Given the description of an element on the screen output the (x, y) to click on. 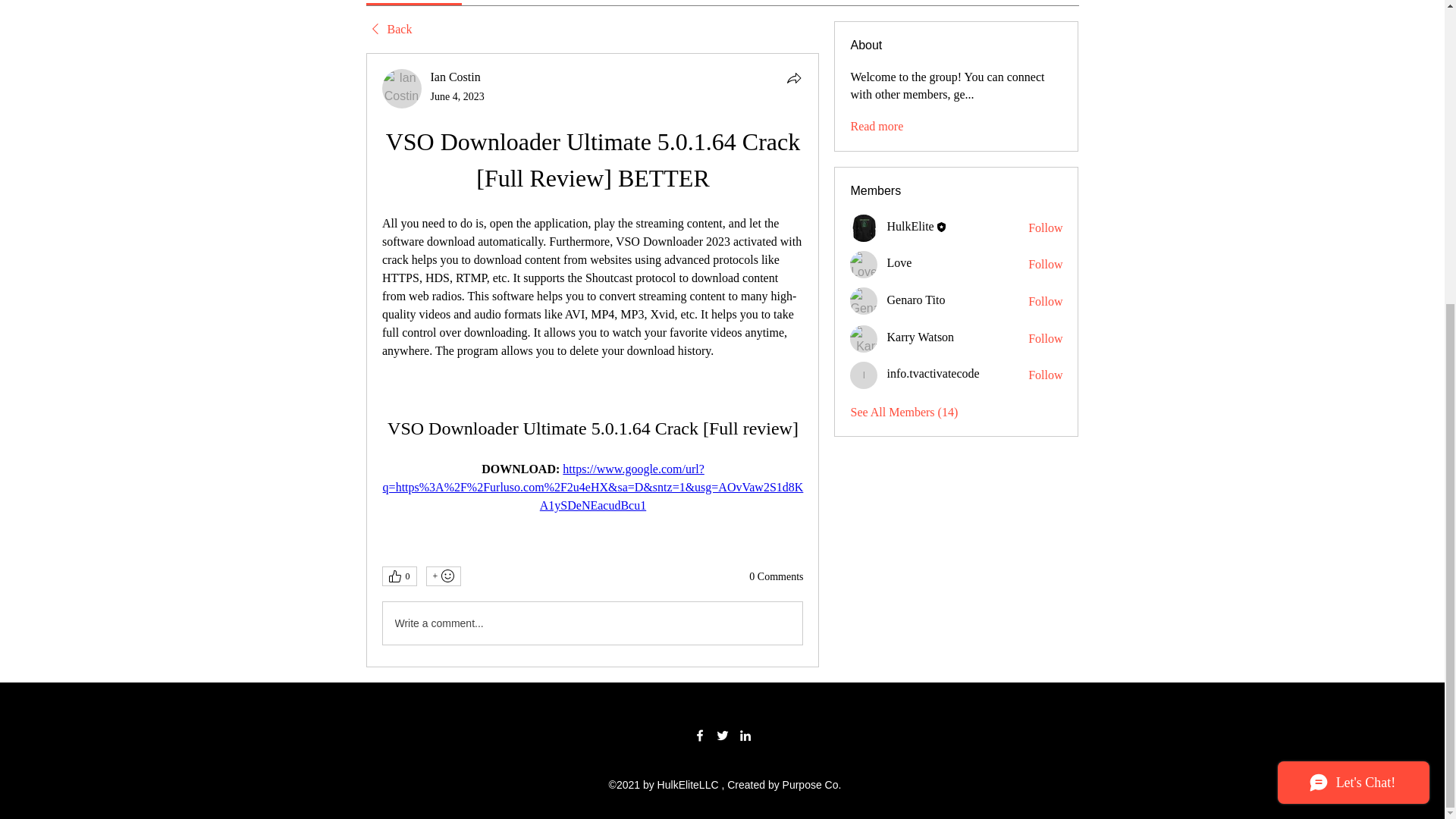
Love (863, 264)
info.tvactivatecode (932, 373)
Back (388, 29)
Karry Watson (863, 338)
info.tvactivatecode (863, 375)
Follow (1044, 228)
HulkElite (909, 226)
Follow (1044, 301)
Karry Watson (919, 336)
Ian Costin (401, 88)
Genaro Tito (863, 300)
Follow (1044, 338)
HulkElite (863, 227)
